Given the description of an element on the screen output the (x, y) to click on. 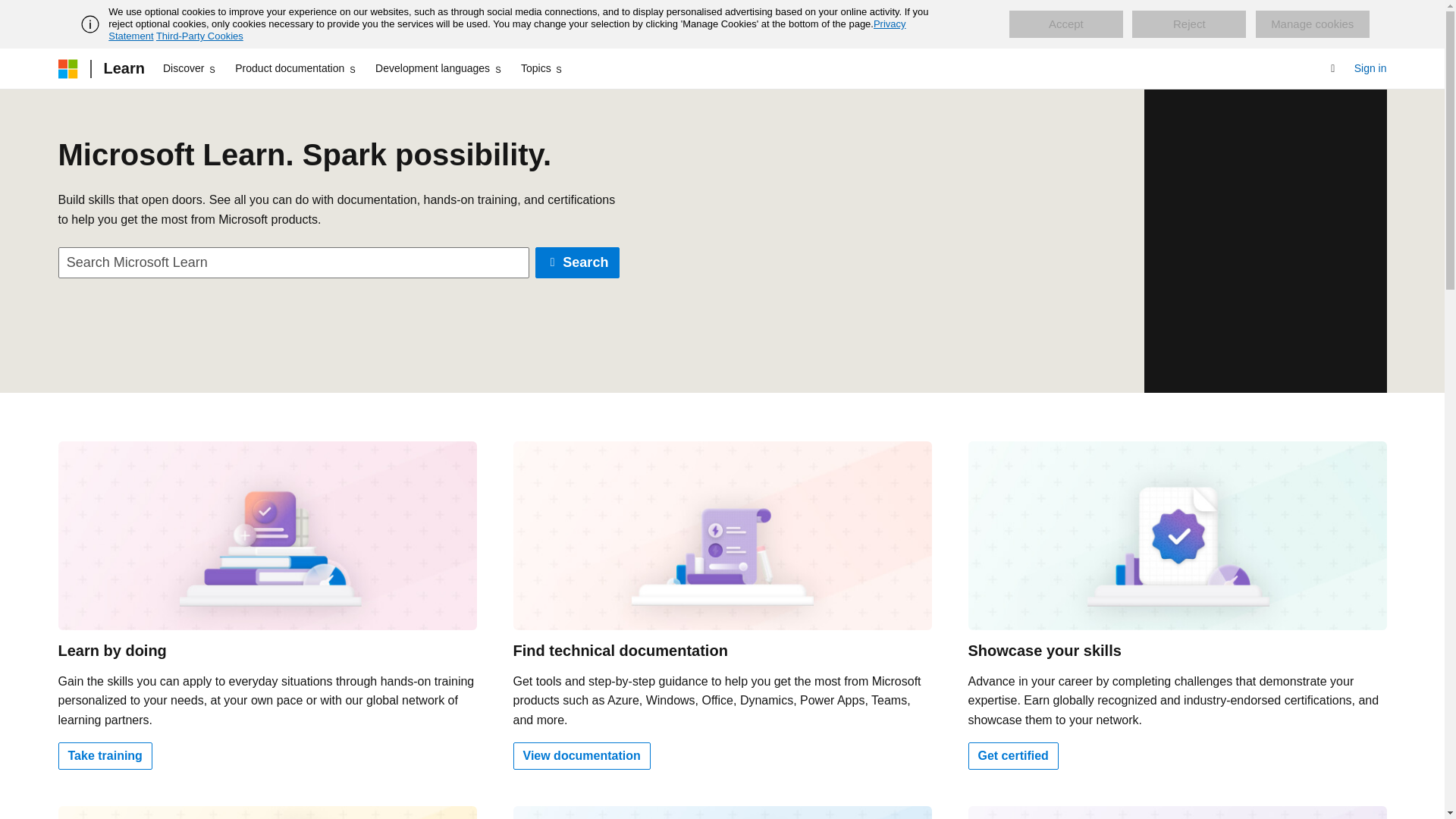
Privacy Statement (506, 29)
Learn (123, 68)
Take training (104, 755)
Sign in (1370, 68)
Skip to main content (11, 11)
Search (577, 262)
Development languages (438, 68)
Topics (542, 68)
Reject (1189, 23)
Accept (1065, 23)
Discover (189, 68)
Third-Party Cookies (199, 35)
Product documentation (295, 68)
View documentation (580, 755)
Get certified (1013, 755)
